Given the description of an element on the screen output the (x, y) to click on. 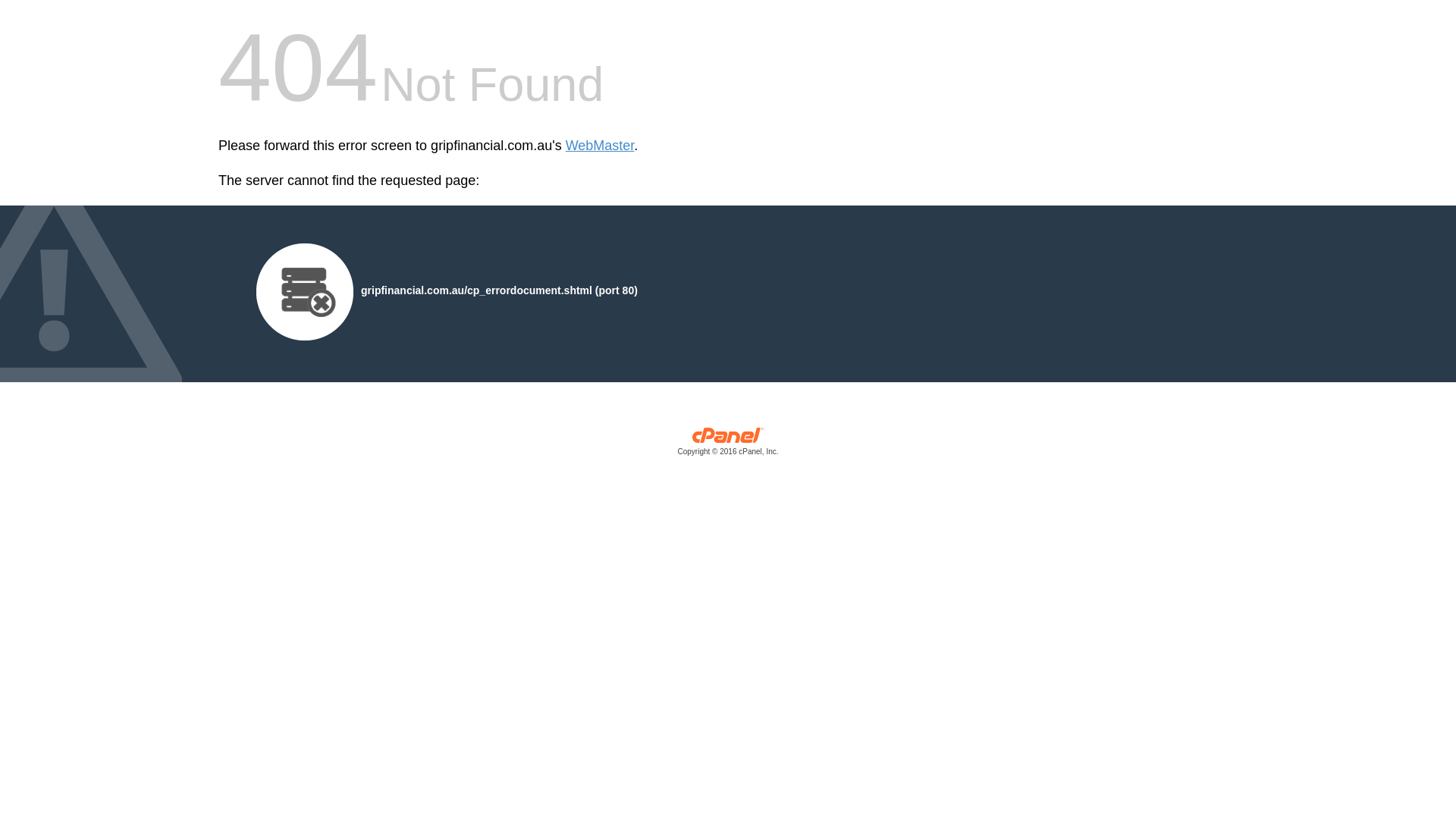
WebMaster Element type: text (599, 145)
